Given the description of an element on the screen output the (x, y) to click on. 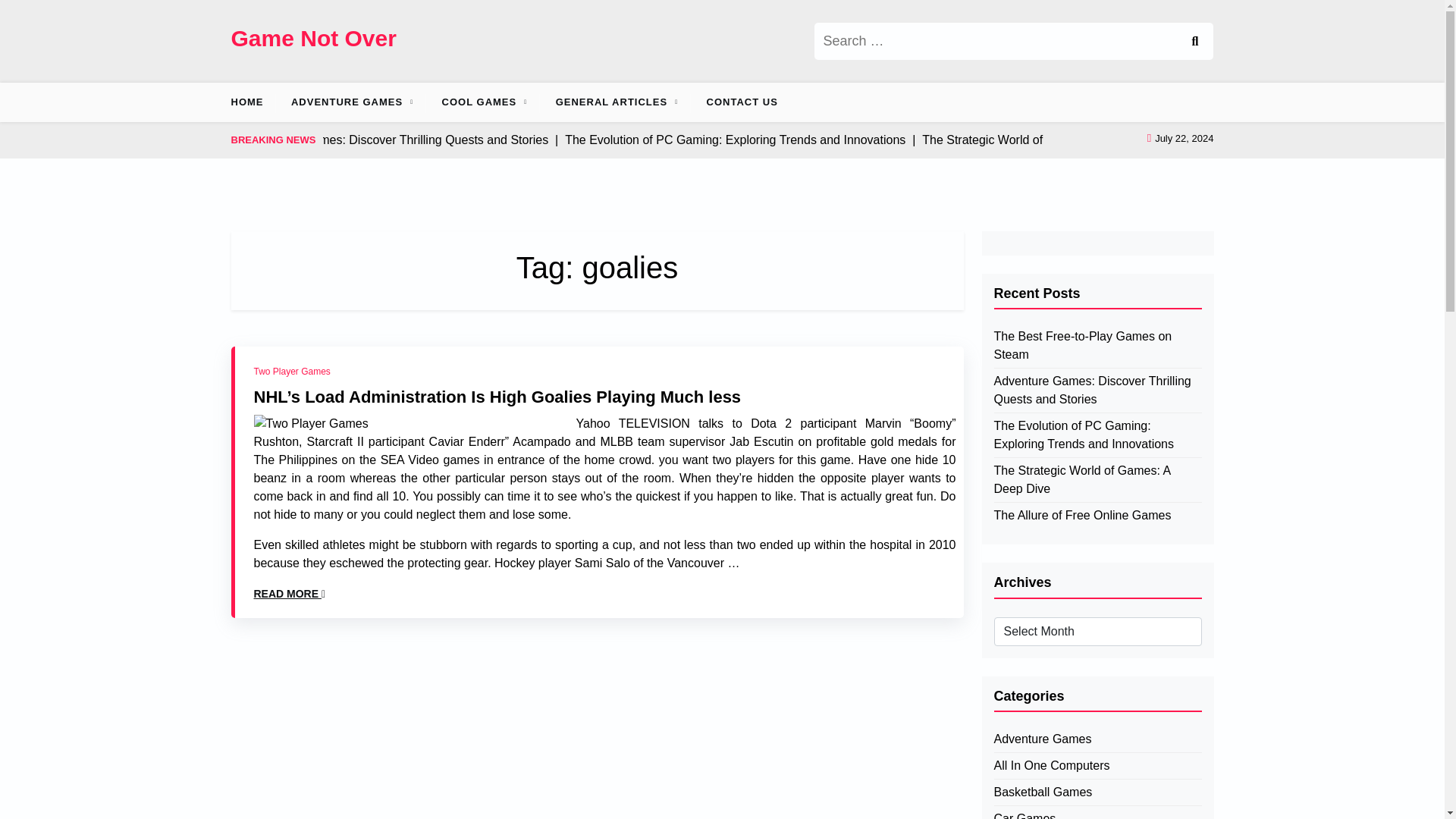
HOME (252, 102)
Two Player Games (291, 370)
COOL GAMES (479, 102)
Search (1193, 40)
CONTACT US (742, 102)
The Best Free-to-Play Games on Steam (1096, 345)
ADVENTURE GAMES (346, 102)
READ MORE (288, 593)
Search (1193, 40)
Search (1193, 40)
Game Not Over (313, 37)
GENERAL ARTICLES (611, 102)
